Given the description of an element on the screen output the (x, y) to click on. 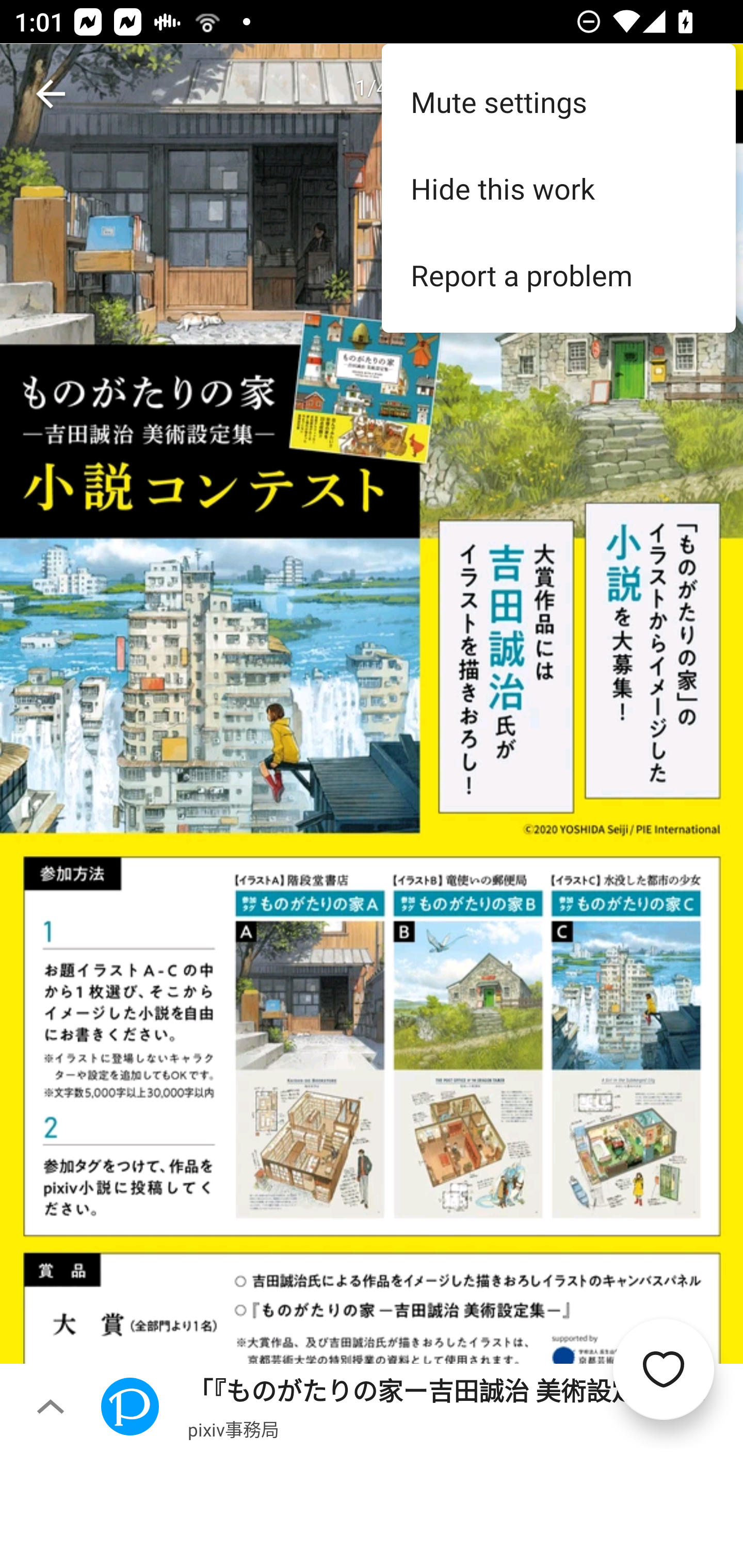
Mute settings (558, 101)
Hide this work (558, 188)
Report a problem (558, 275)
